Given the description of an element on the screen output the (x, y) to click on. 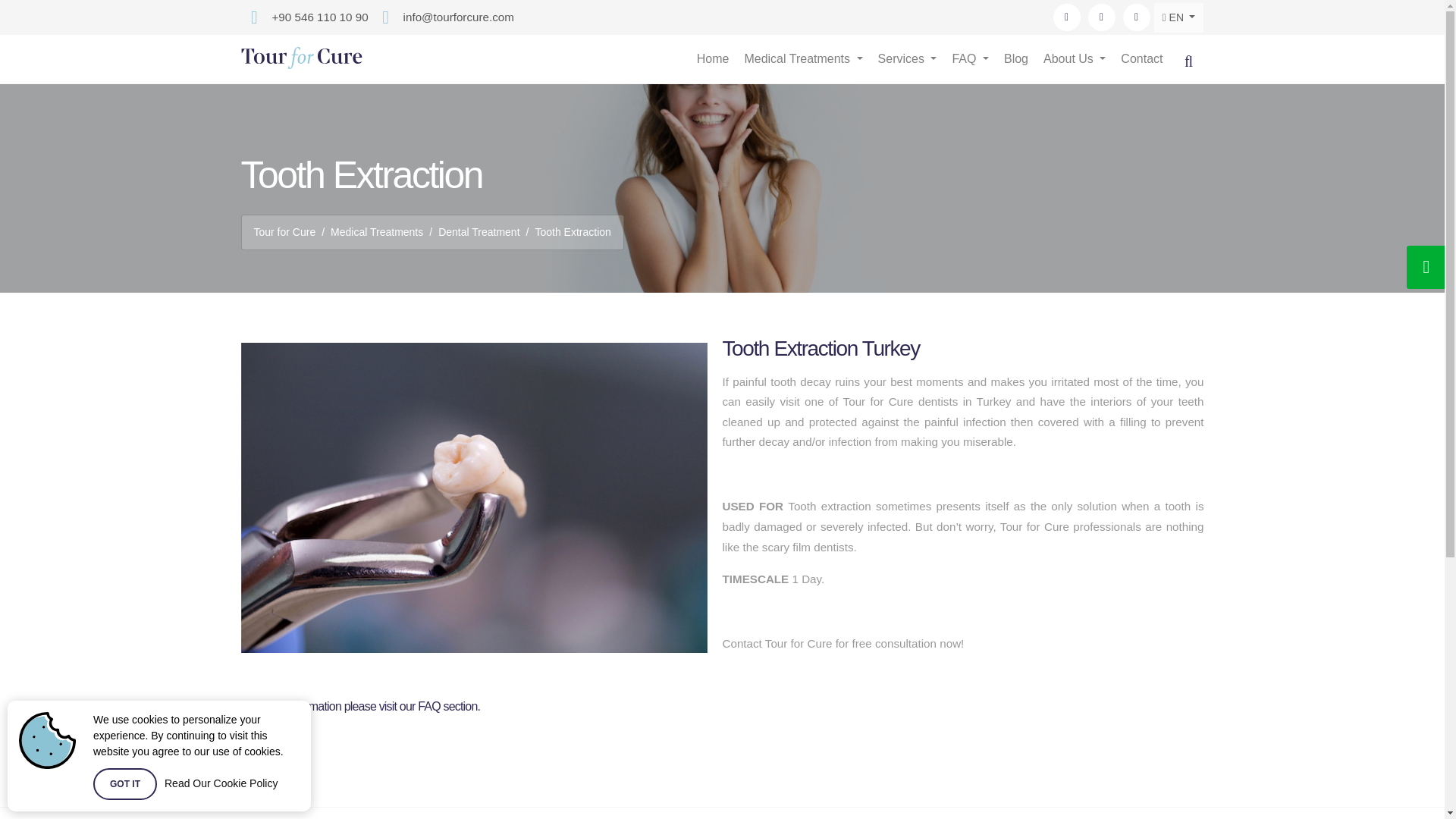
Medical Treatments (804, 59)
Home (714, 59)
